Given the description of an element on the screen output the (x, y) to click on. 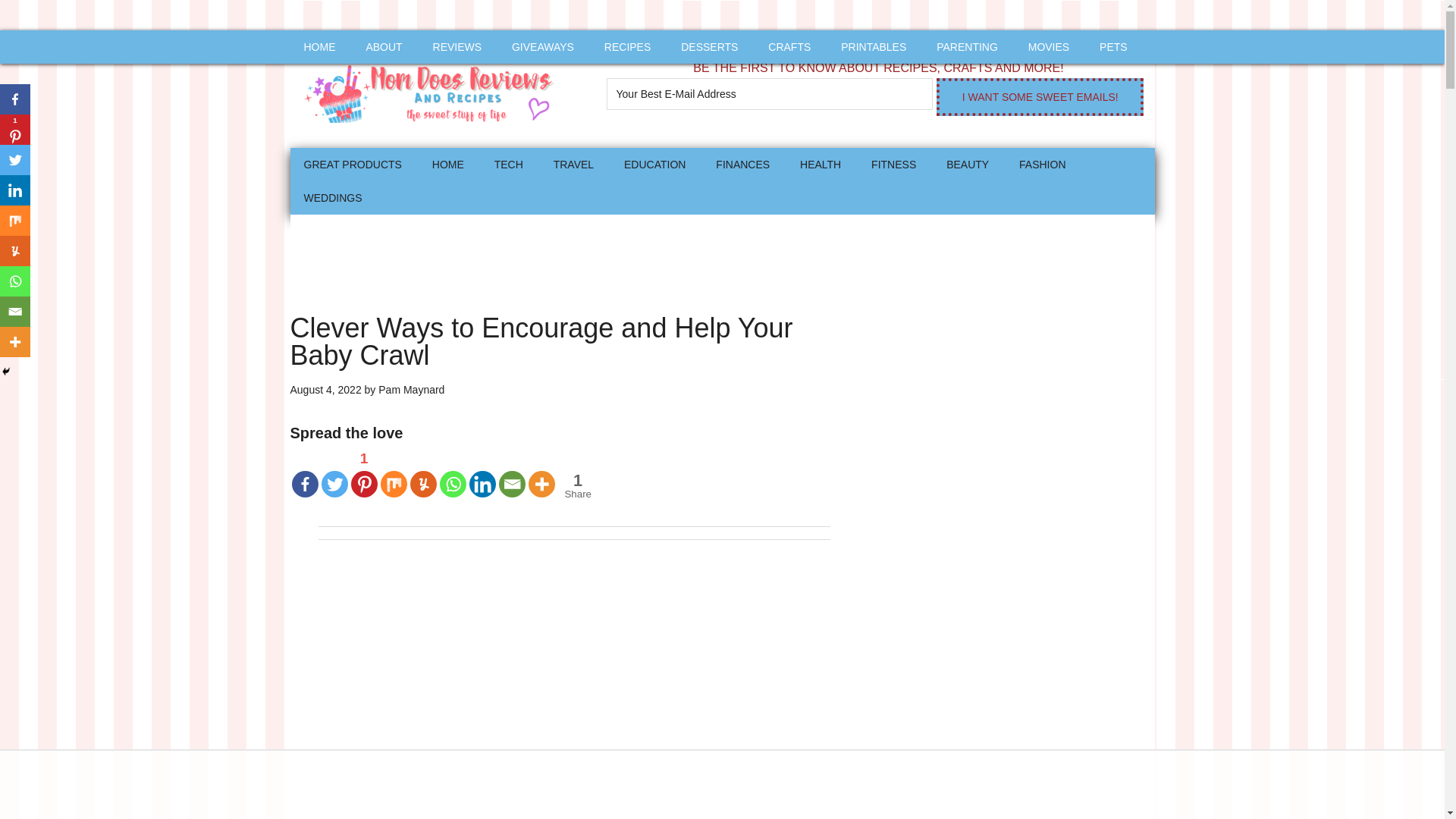
FINANCES (742, 164)
FITNESS (893, 164)
I want some Sweet Emails! (1039, 96)
PRINTABLES (873, 46)
GREAT PRODUCTS (351, 164)
DESSERTS (708, 46)
REVIEWS (457, 46)
FASHION (1042, 164)
HOME (319, 46)
CRAFTS (789, 46)
